Given the description of an element on the screen output the (x, y) to click on. 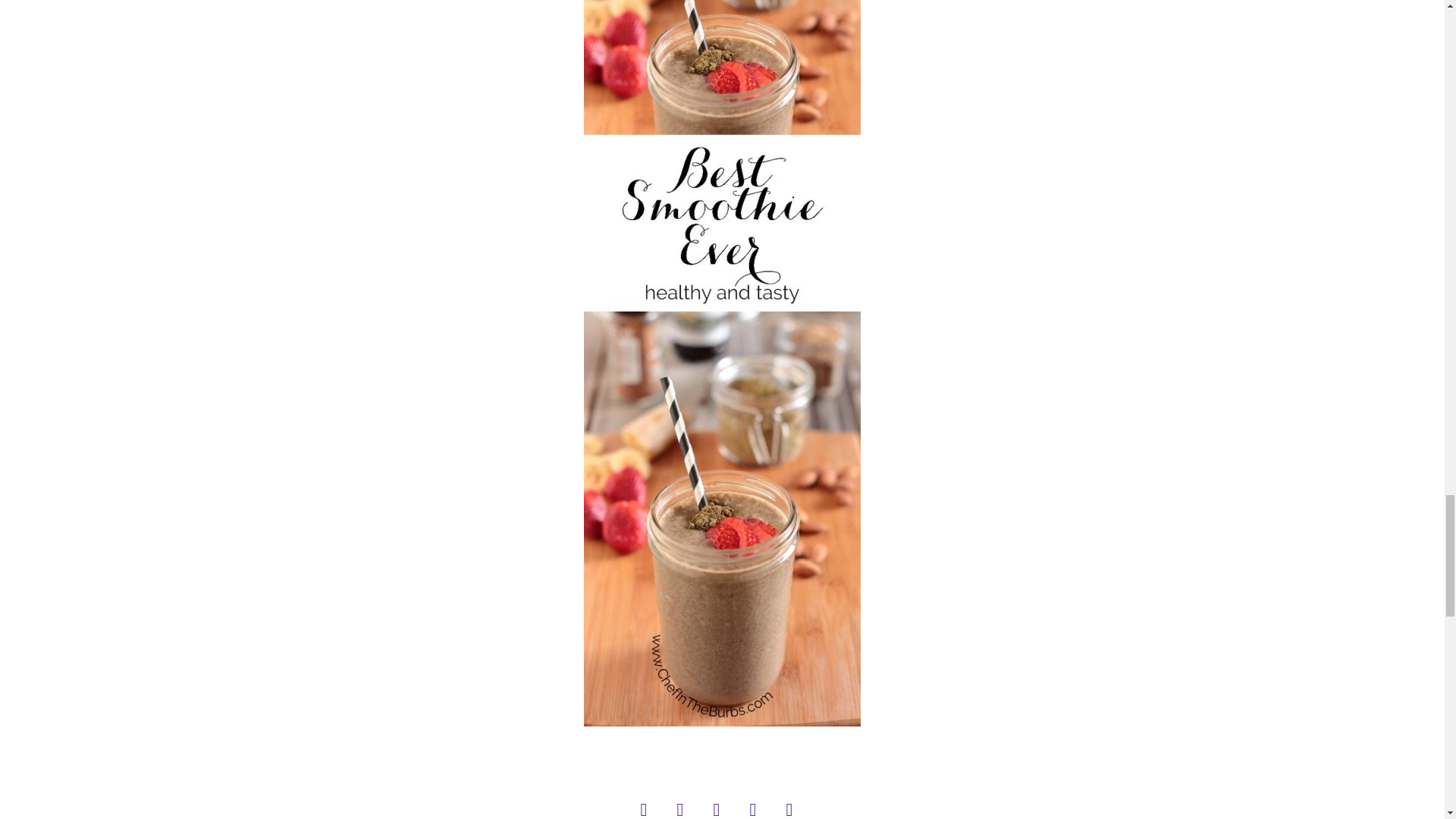
Pinterest (684, 805)
More Options (794, 805)
Yummly (721, 805)
Facebook (648, 805)
Email This (757, 805)
